Given the description of an element on the screen output the (x, y) to click on. 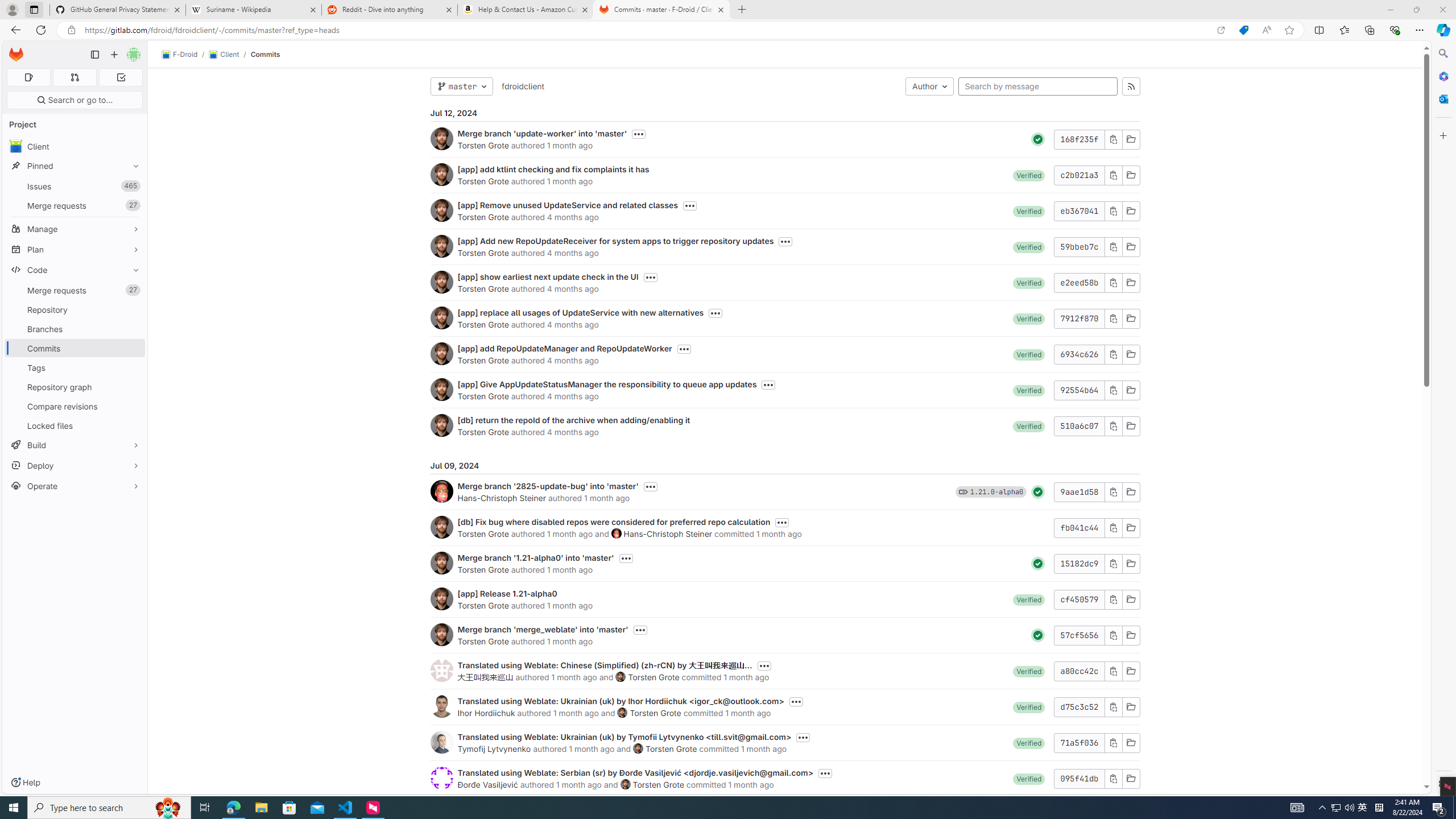
Branches (74, 328)
Show desktop (1454, 807)
Locked files (74, 425)
Repository graph (74, 386)
Hans-Christoph Steiner (667, 533)
Customize (1442, 135)
Start (13, 807)
Search (1442, 53)
master (461, 85)
